Given the description of an element on the screen output the (x, y) to click on. 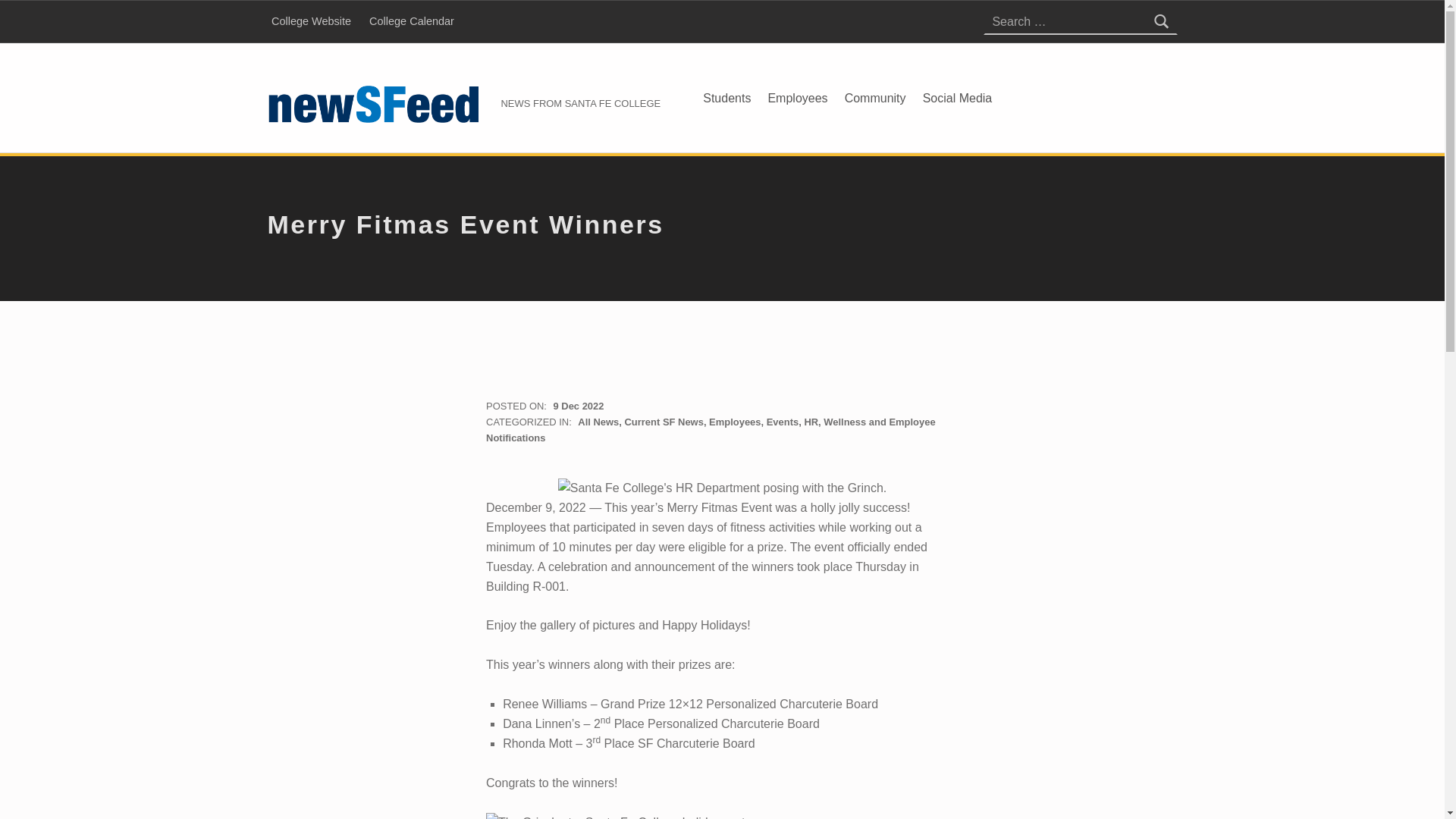
College Calendar (411, 21)
Employees (734, 421)
All News (598, 421)
College Website (310, 21)
HR, Wellness and Employee Notifications (711, 429)
Current SF News (663, 421)
Social Media (957, 97)
Events (782, 421)
9 Dec 2022 (578, 405)
Community (875, 97)
